Given the description of an element on the screen output the (x, y) to click on. 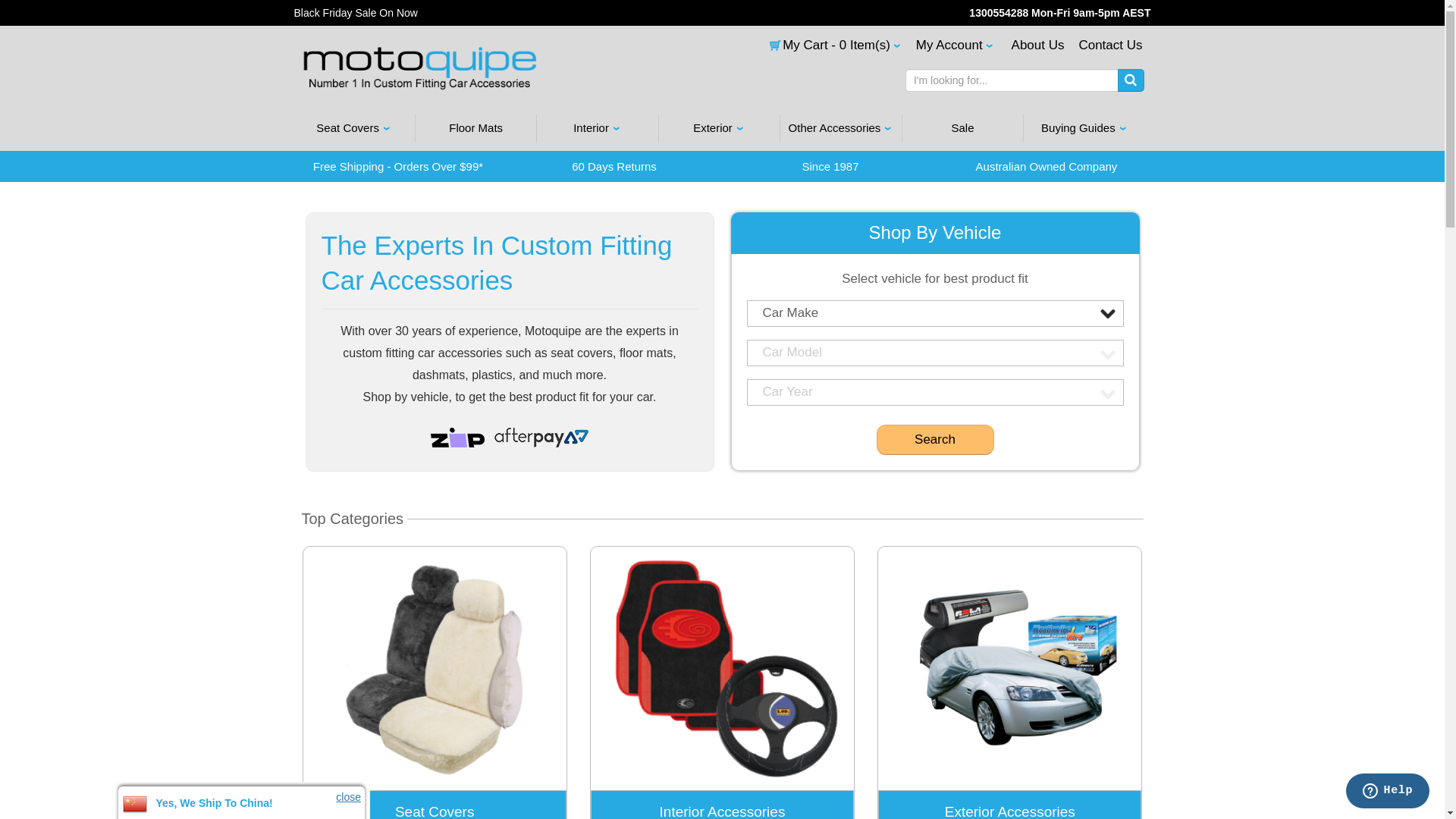
Free Shipping - Orders Over $99* Element type: text (398, 166)
Seat Covers Element type: text (353, 128)
Contact Us Element type: text (1110, 45)
Interior Element type: text (597, 128)
60 Days Returns Element type: text (613, 166)
Opens a widget where you can find more information Element type: hover (1387, 792)
Exterior Element type: text (719, 128)
Motoquipe Element type: hover (419, 68)
About Us Element type: text (1037, 45)
Sale Element type: text (962, 128)
Other Accessories Element type: text (840, 128)
close Element type: text (347, 796)
Australian Owned Company Element type: text (1045, 166)
My Cart - 0 Item(s) Element type: text (828, 45)
Floor Mats Element type: text (475, 128)
Search Element type: text (935, 439)
My Account Element type: text (954, 45)
Since 1987 Element type: text (830, 166)
Search Element type: text (1130, 80)
Buying Guides Element type: text (1084, 128)
